Given the description of an element on the screen output the (x, y) to click on. 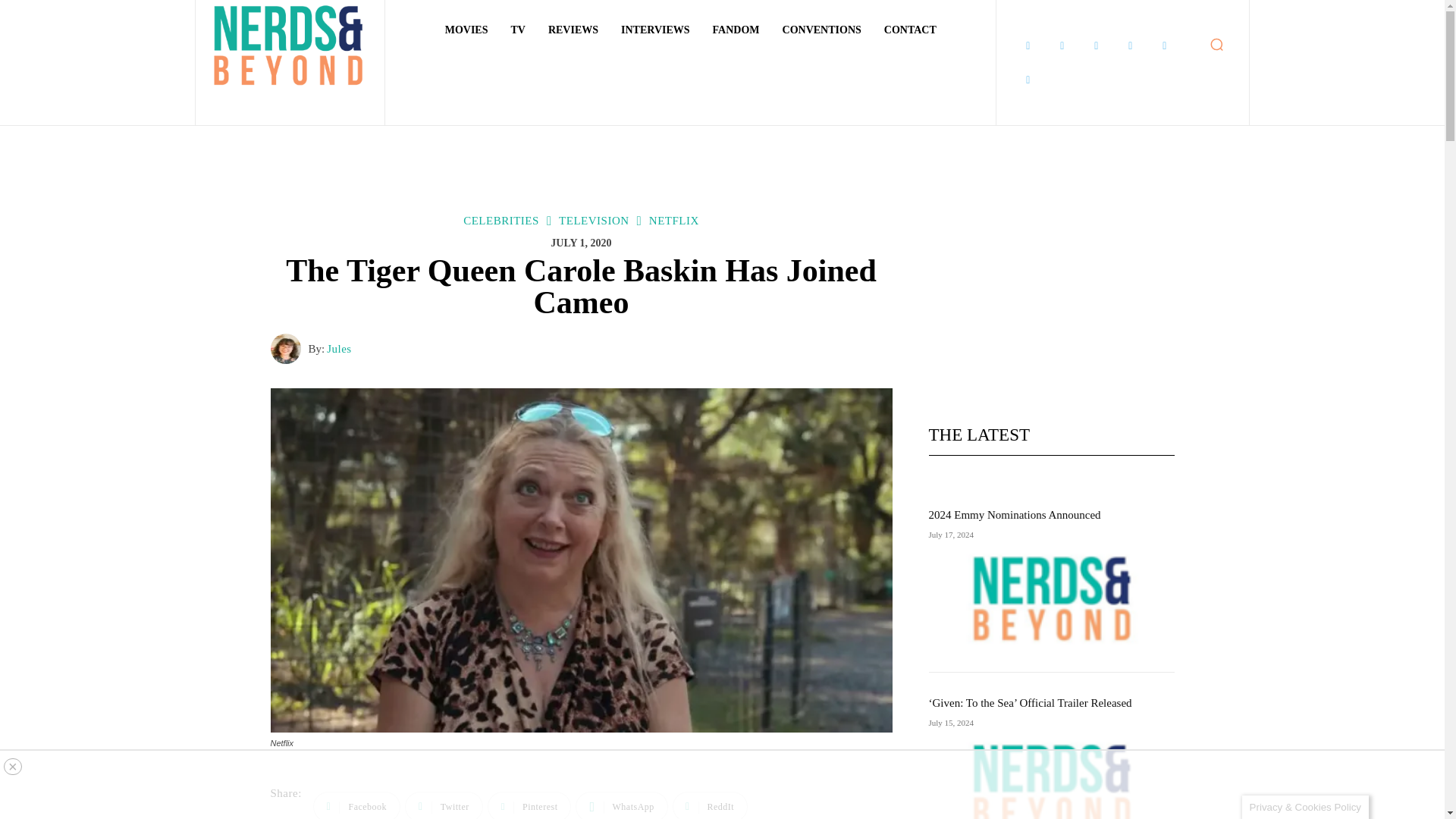
Jules (288, 348)
Facebook (1027, 45)
Mail (1096, 45)
Youtube (1027, 79)
Twitter (1164, 45)
TikTok (1129, 45)
Instagram (1061, 45)
